Given the description of an element on the screen output the (x, y) to click on. 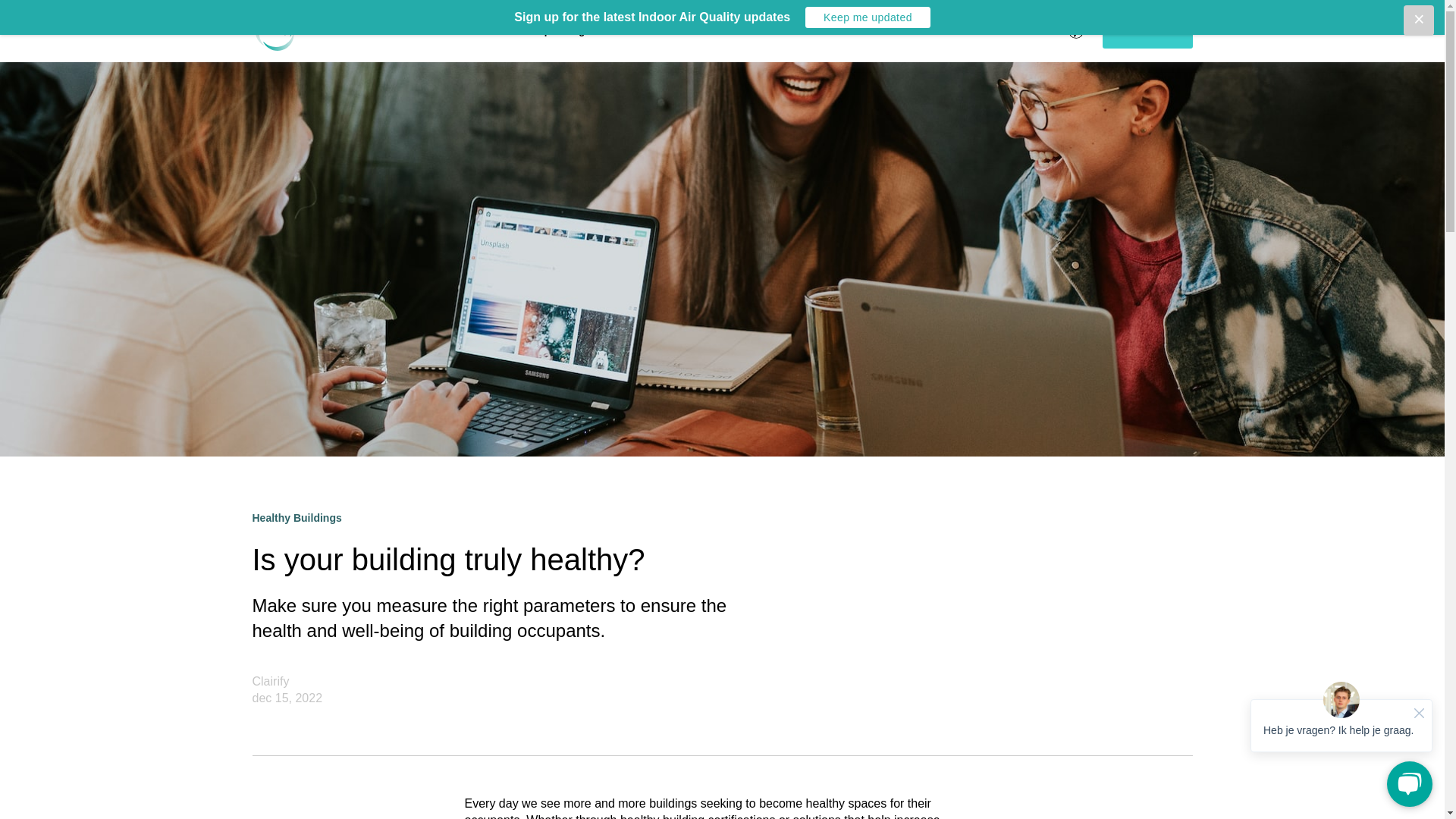
AAN DE SLAG (1147, 30)
Oplossingen (574, 30)
Bronnen (688, 30)
Over ons (458, 30)
Clairify (269, 680)
